Given the description of an element on the screen output the (x, y) to click on. 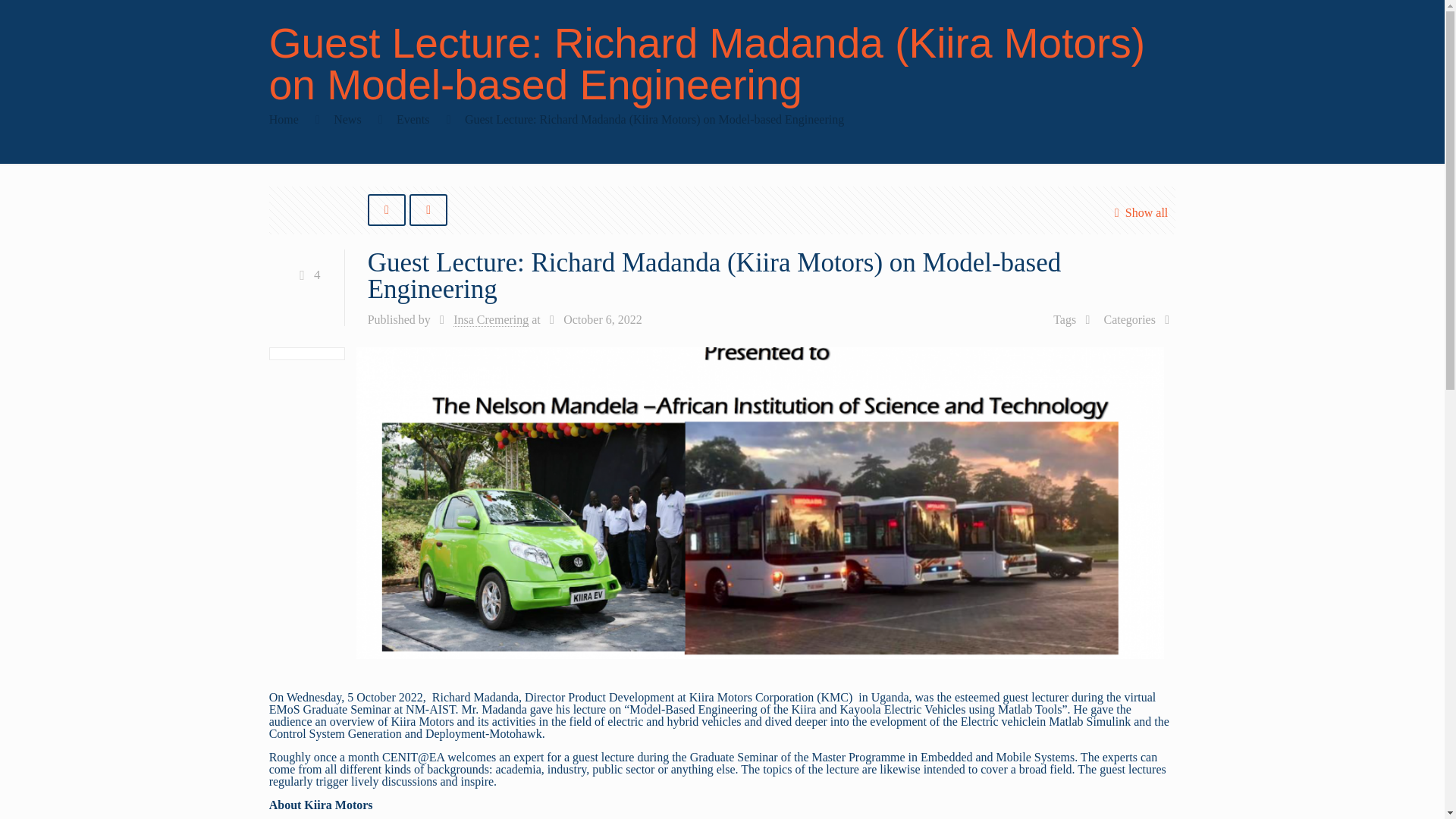
Home (283, 119)
News (347, 119)
Events (412, 119)
